Given the description of an element on the screen output the (x, y) to click on. 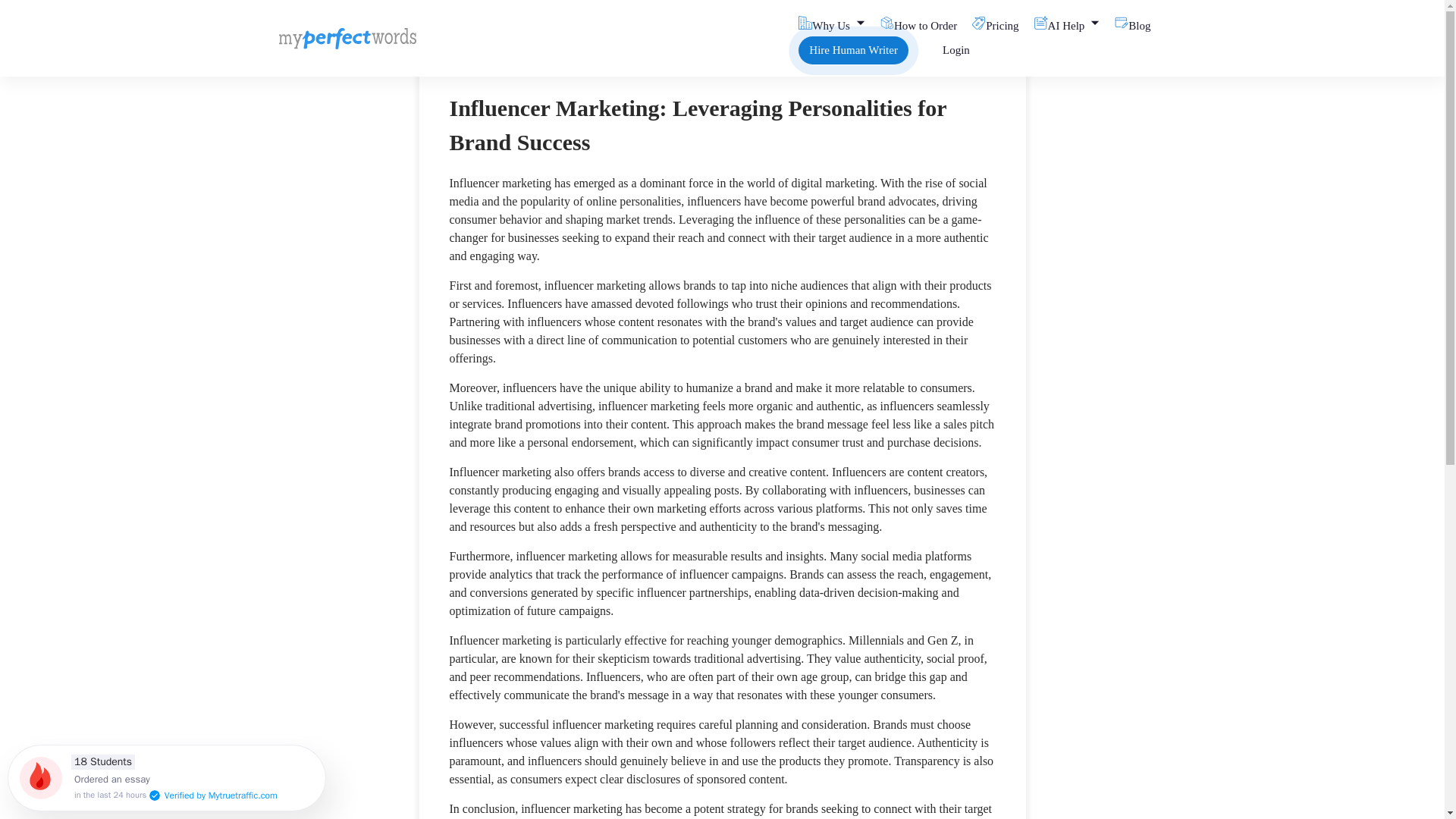
AI Help (1074, 24)
Login (956, 50)
Pricing (1002, 24)
Hire Human Writer (852, 50)
How to Order (926, 24)
Why Us (838, 24)
Blog (1140, 24)
